Given the description of an element on the screen output the (x, y) to click on. 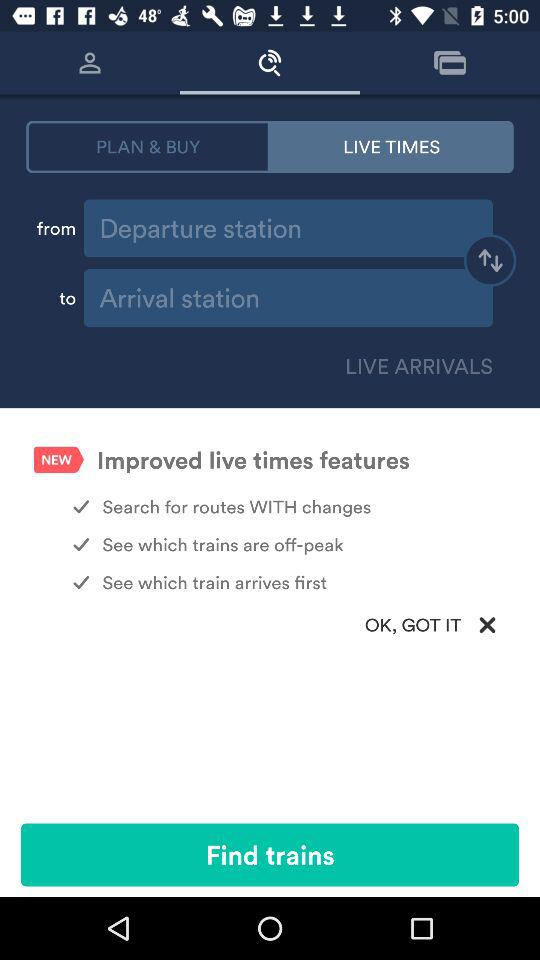
input text destination (288, 298)
